Given the description of an element on the screen output the (x, y) to click on. 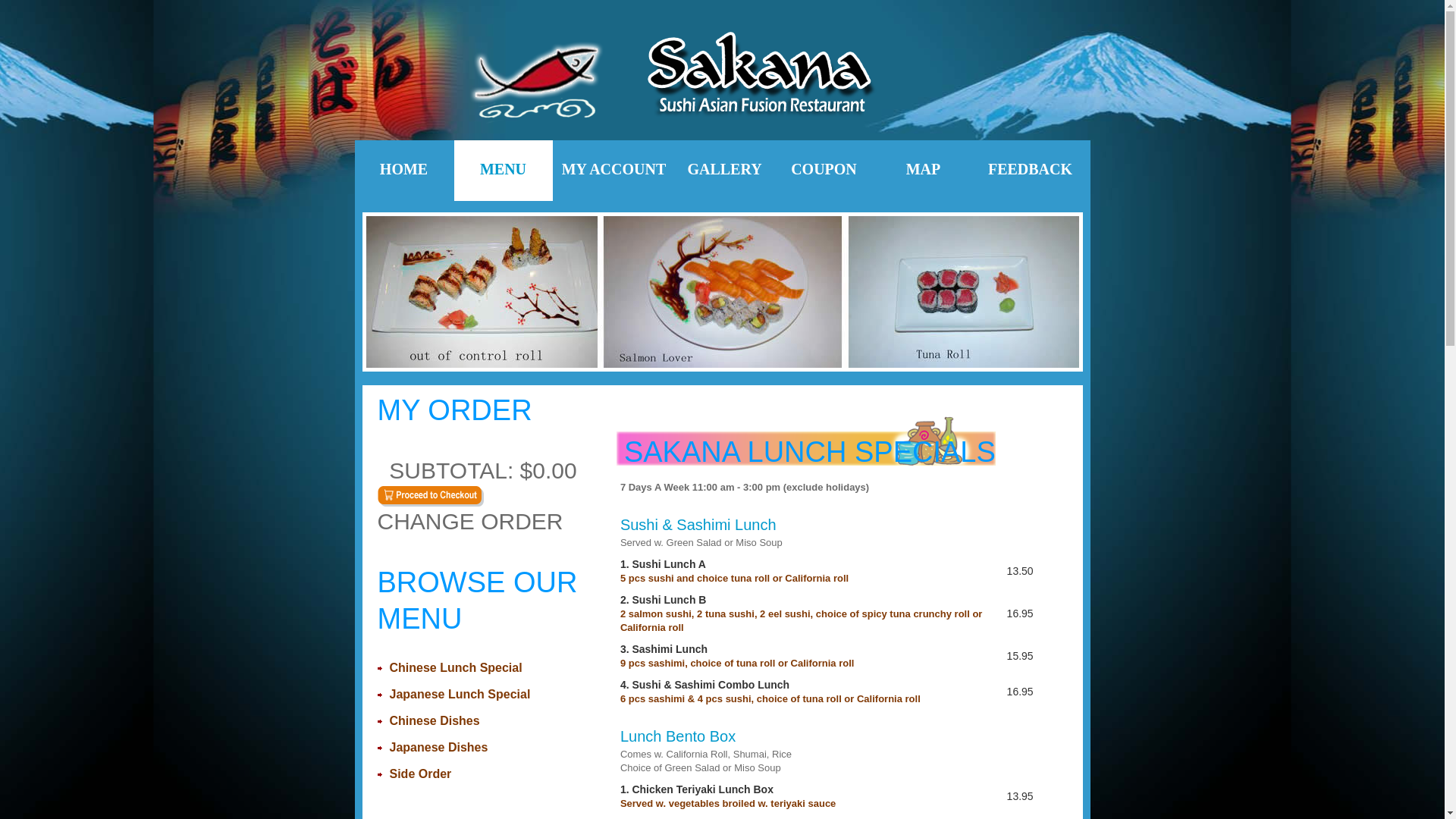
CHANGE ORDER Element type: text (483, 531)
Japanese Lunch Special Element type: text (459, 693)
FEEDBACK Element type: text (1030, 170)
Chinese Lunch Special Element type: text (455, 667)
HOME Element type: text (403, 170)
Sakana Sushi Asian Fusion Restaurant, New Britain, PA Element type: hover (722, 77)
Japanese Dishes Element type: text (438, 746)
COUPON Element type: text (824, 170)
MAP Element type: text (922, 170)
Chinese Dishes Element type: text (434, 720)
MY ACCOUNT Element type: text (613, 170)
Side Order Element type: text (420, 773)
MENU Element type: text (502, 170)
GALLERY Element type: text (723, 170)
